Given the description of an element on the screen output the (x, y) to click on. 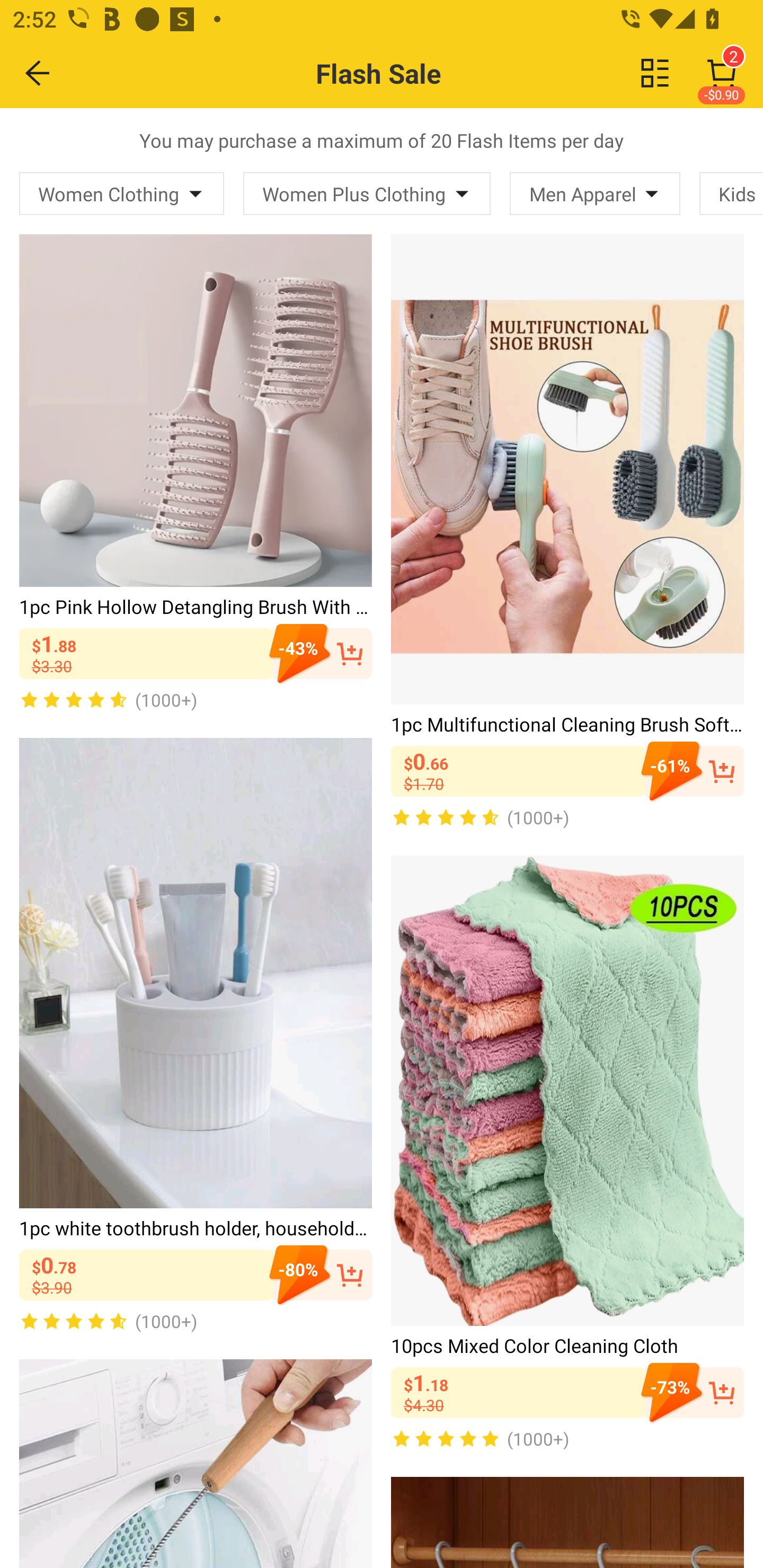
Flash Sale change view 2 -$0.90 (419, 72)
2 -$0.90 (721, 72)
change view (654, 72)
BACK (38, 72)
Women Clothing (121, 193)
Women Plus Clothing (366, 193)
Men Apparel (594, 193)
